Given the description of an element on the screen output the (x, y) to click on. 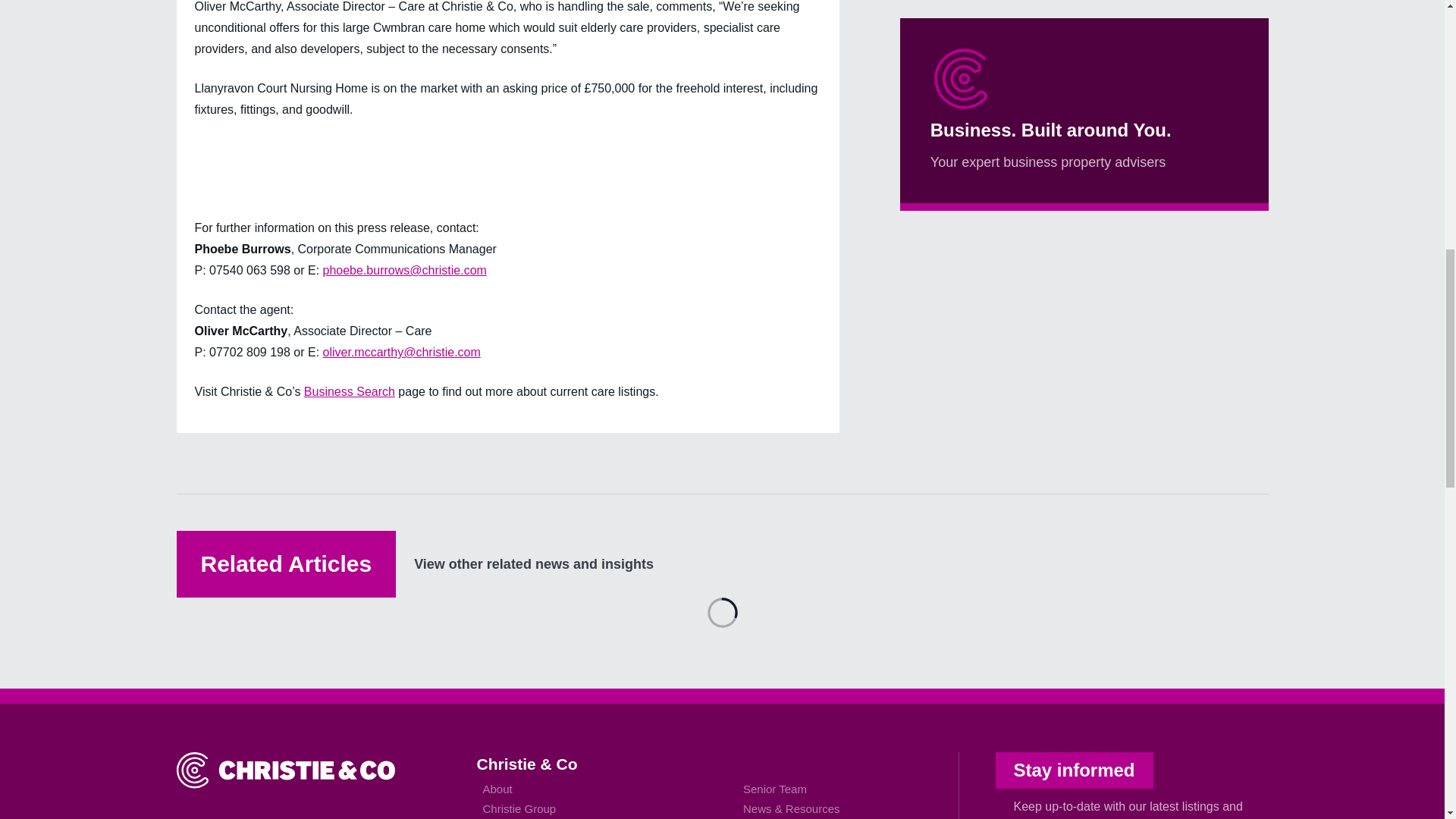
Business Search (349, 391)
About (497, 788)
Christie Group (519, 808)
Senior Team (774, 788)
